Given the description of an element on the screen output the (x, y) to click on. 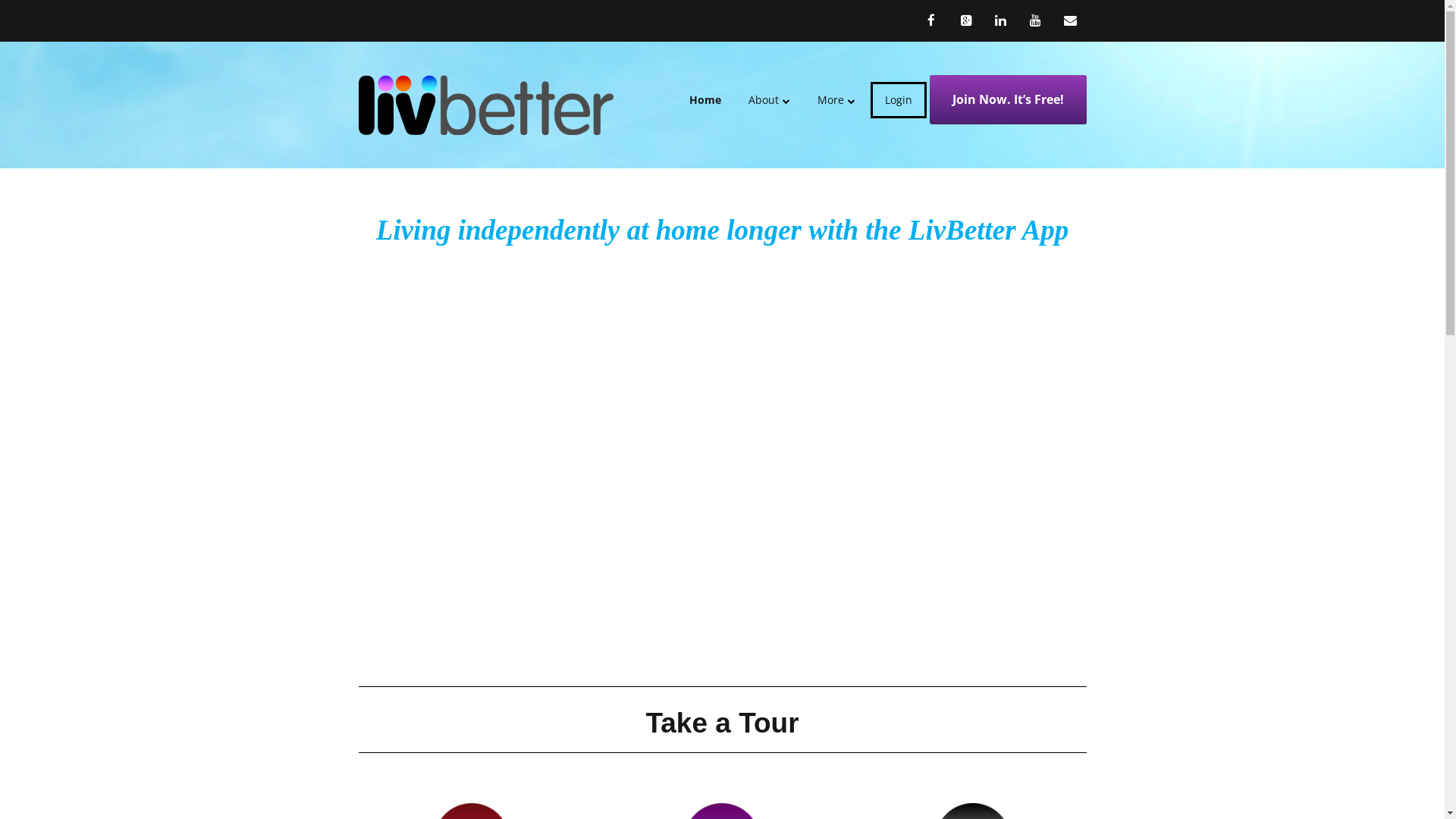
Facebook Element type: text (934, 20)
YouTube Element type: text (1035, 20)
Google+ Element type: text (966, 20)
Skip to content Element type: text (406, 9)
About Element type: text (768, 100)
Email Element type: text (1070, 20)
More Element type: text (836, 100)
LinkedIn Element type: text (1000, 20)
Skip to content Element type: text (736, 84)
Home Element type: text (710, 100)
Login Element type: text (898, 99)
